Given the description of an element on the screen output the (x, y) to click on. 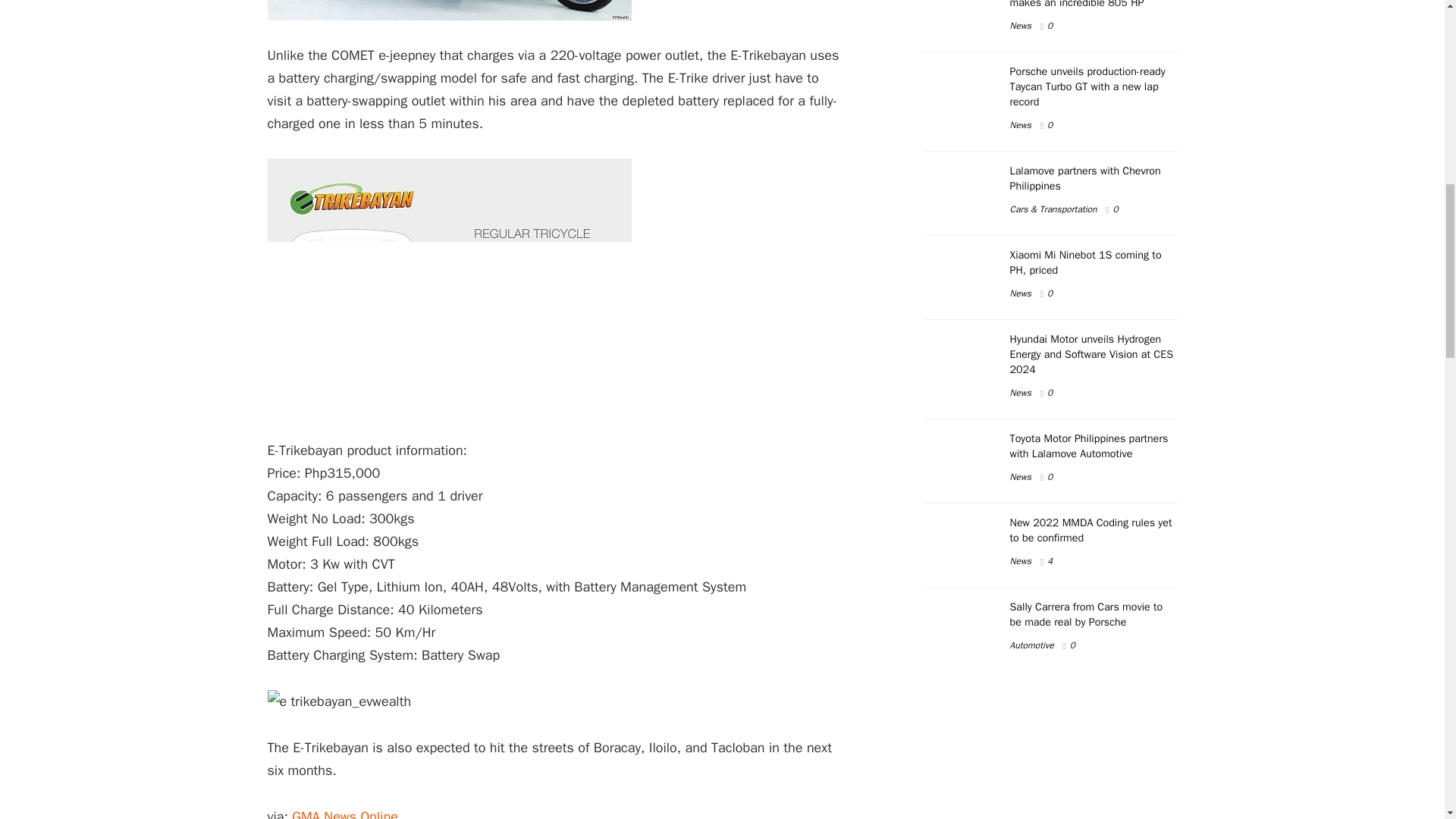
Electric Tricycles roll out in Mandaluyong City 1 (448, 10)
GMA News Online (344, 813)
Electric Tricycles roll out in Mandaluyong City 2 (448, 286)
Electric Tricycles roll out in Mandaluyong City 3 (338, 701)
